Given the description of an element on the screen output the (x, y) to click on. 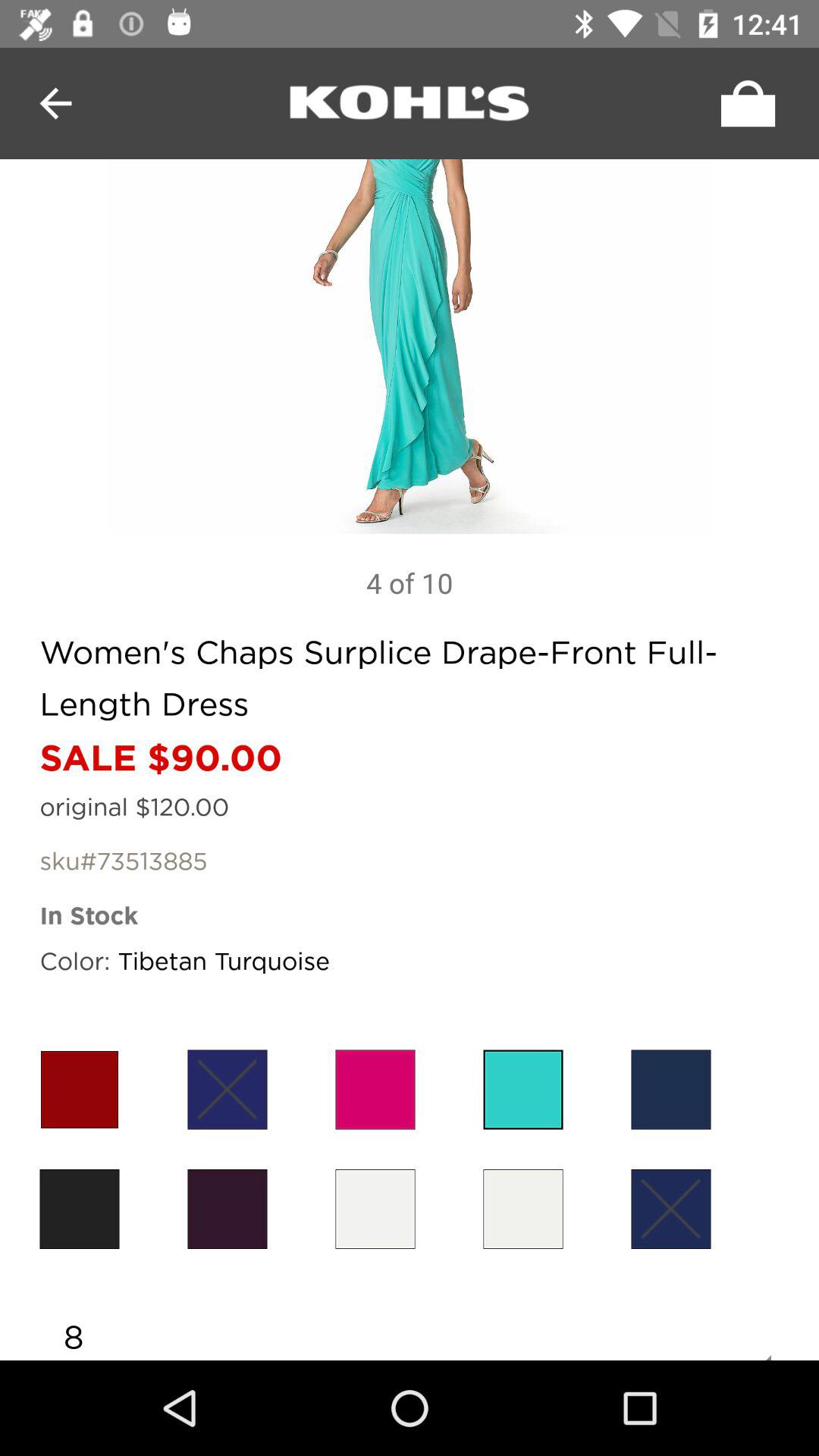
select blue (670, 1208)
